Given the description of an element on the screen output the (x, y) to click on. 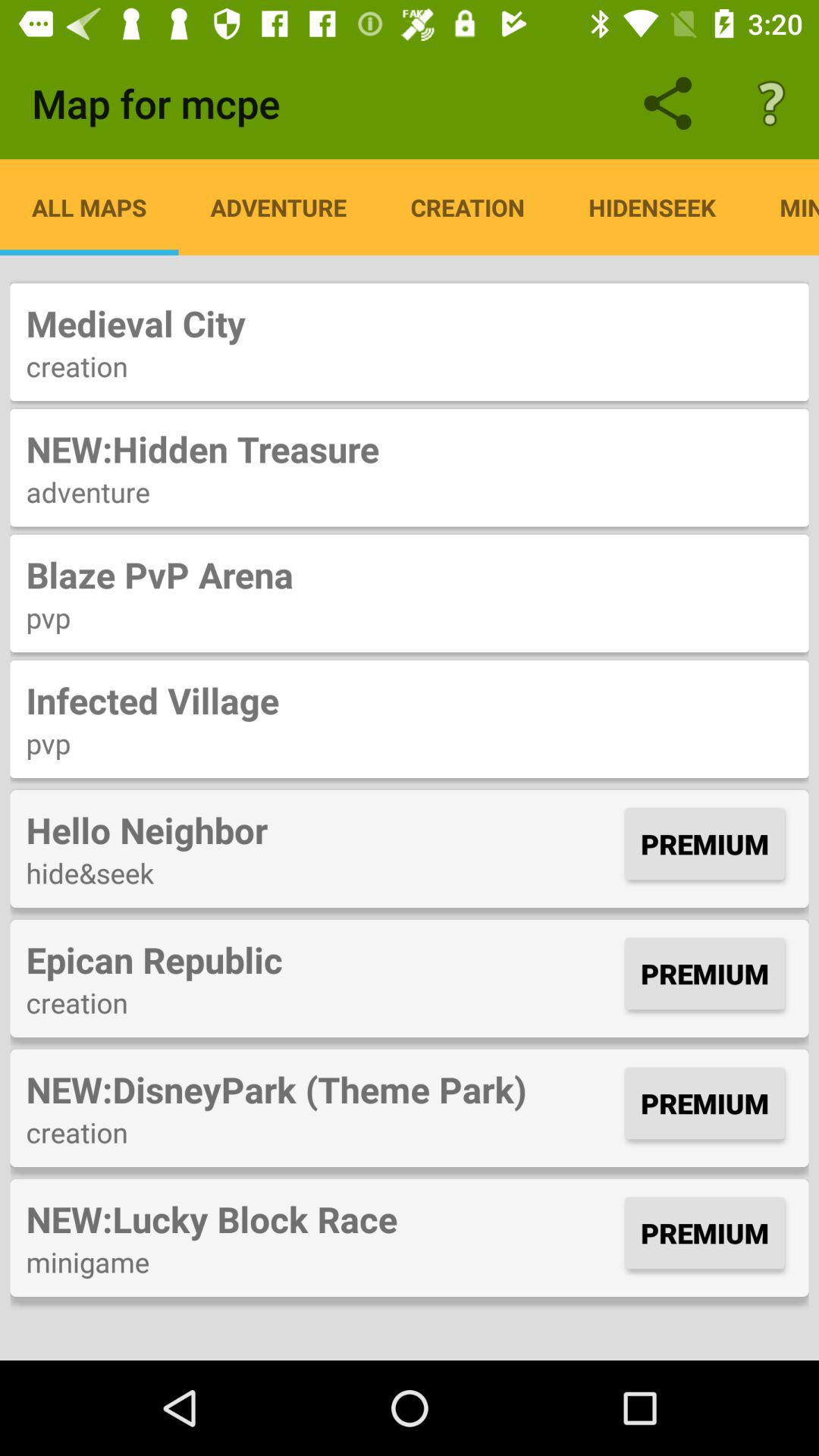
tap item above pvp (409, 574)
